Given the description of an element on the screen output the (x, y) to click on. 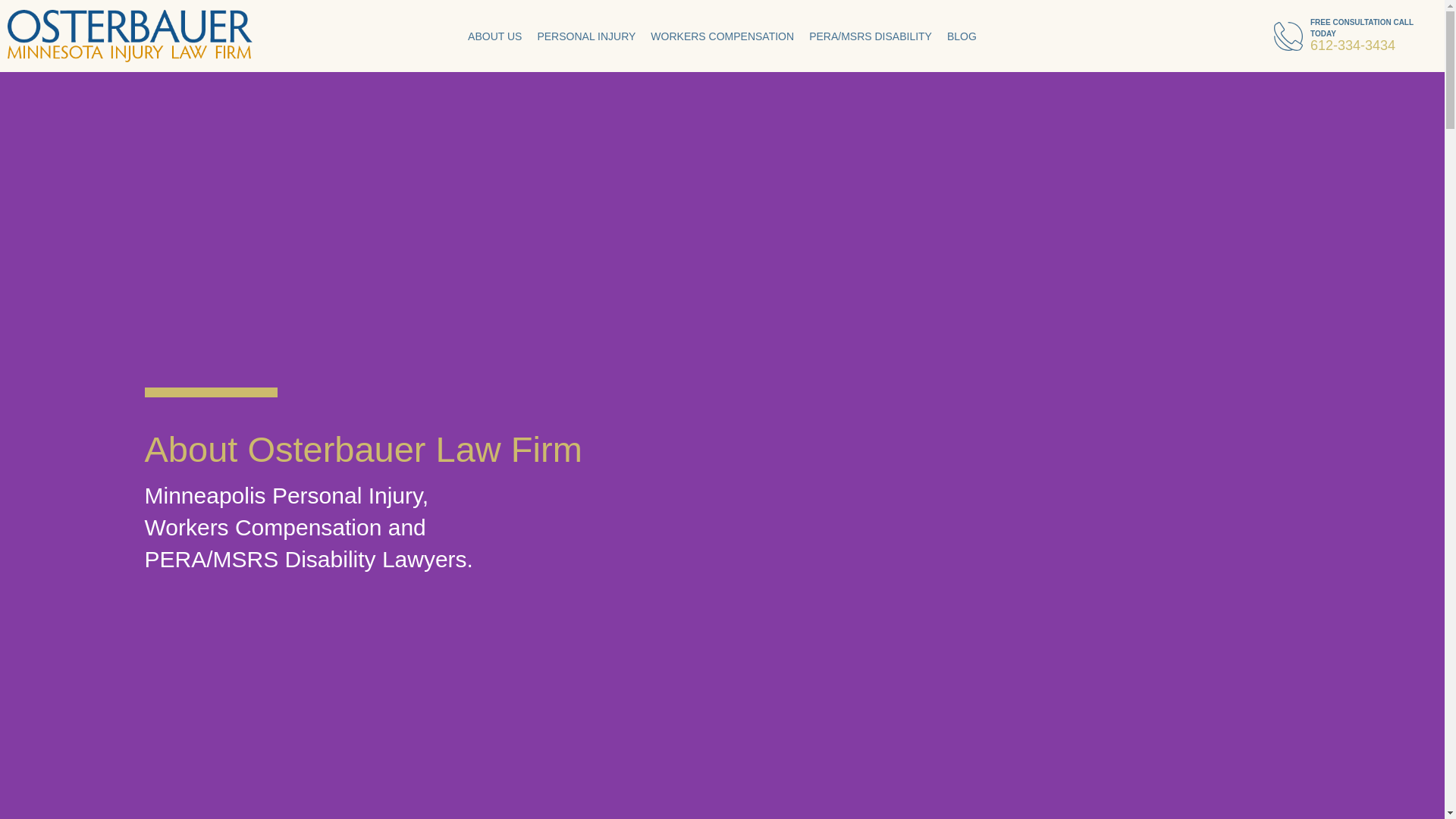
ABOUT US (494, 7)
WORKERS COMPENSATION (721, 35)
PERSONAL INJURY (585, 19)
